Given the description of an element on the screen output the (x, y) to click on. 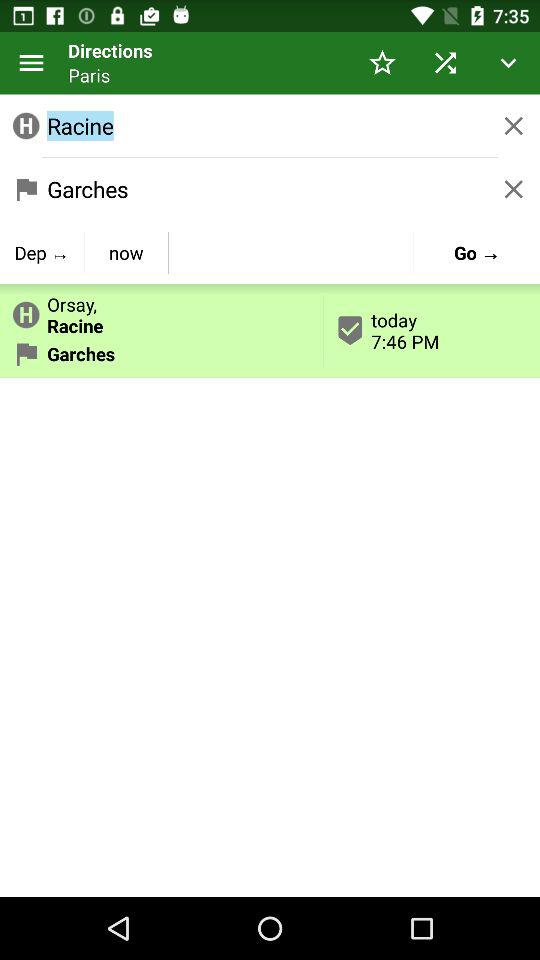
turn on item above racine icon (444, 62)
